Given the description of an element on the screen output the (x, y) to click on. 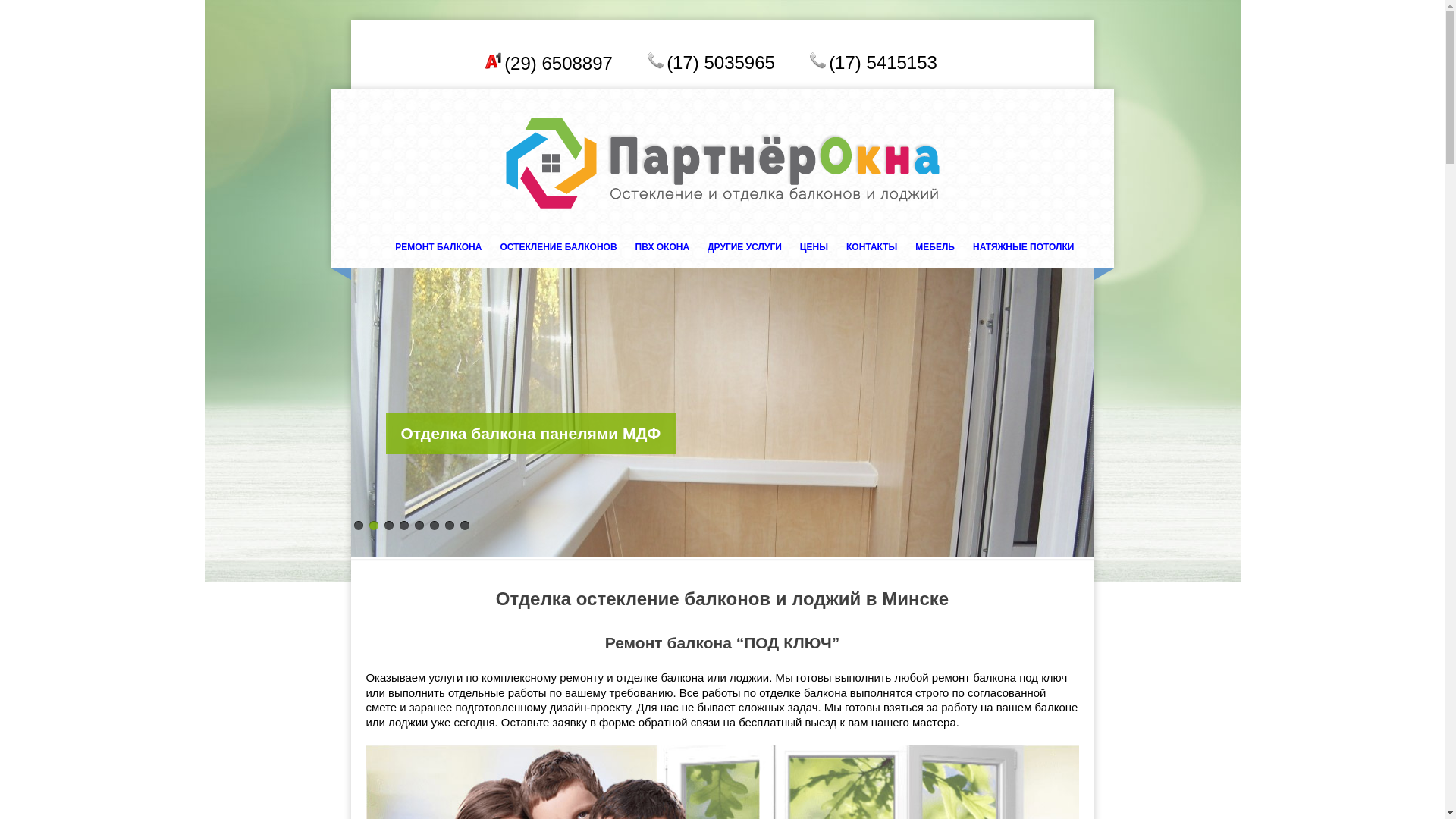
5 Element type: text (418, 525)
7 Element type: text (448, 525)
4 Element type: text (402, 525)
2 Element type: text (372, 525)
6 Element type: text (433, 525)
8 Element type: text (463, 525)
1 Element type: text (357, 525)
(29) 6508897 Element type: text (558, 63)
3 Element type: text (387, 525)
(17) 5035965 Element type: text (720, 62)
(17) 5415153 Element type: text (882, 62)
